Given the description of an element on the screen output the (x, y) to click on. 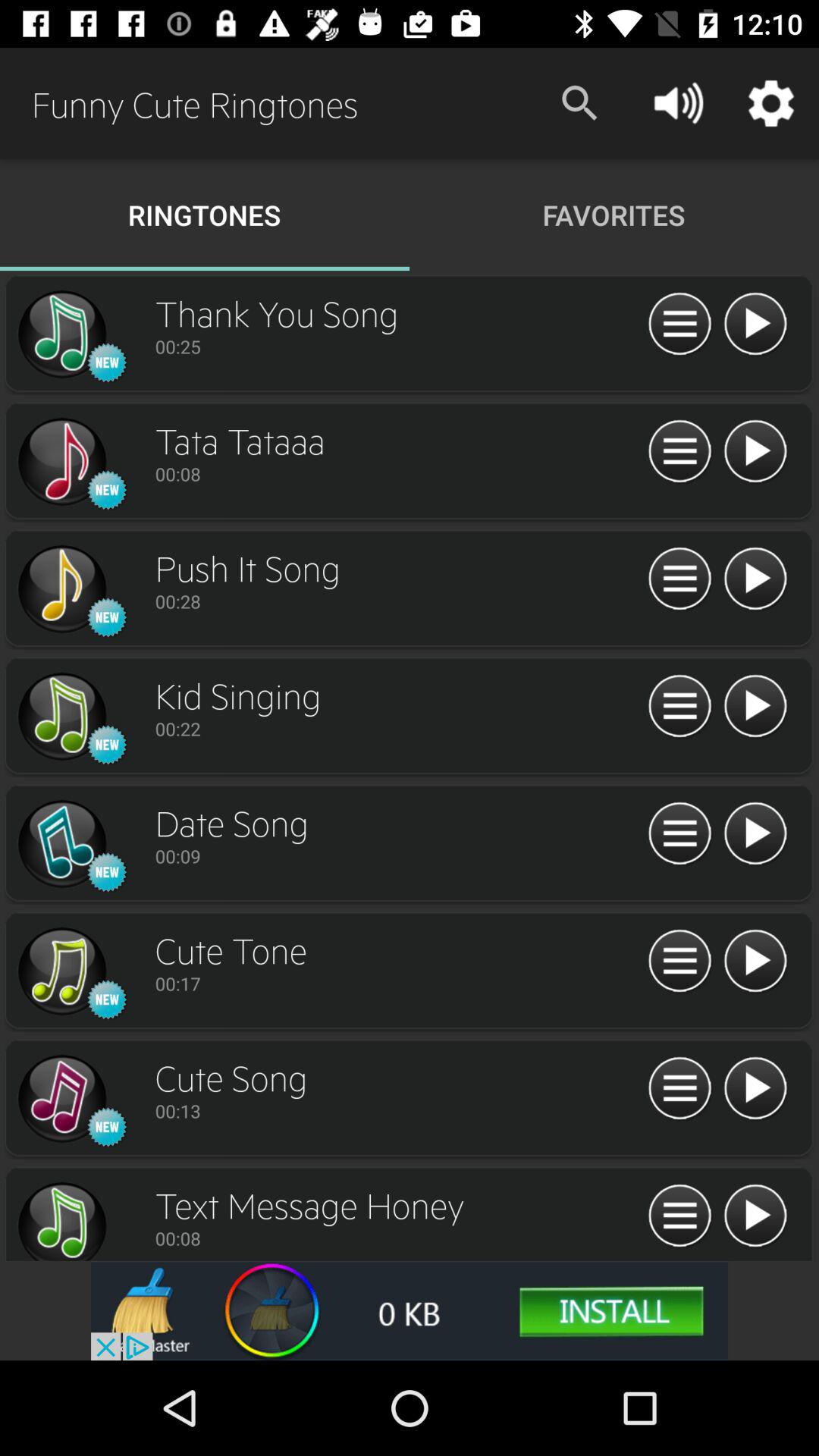
go to menu bar (679, 579)
